Given the description of an element on the screen output the (x, y) to click on. 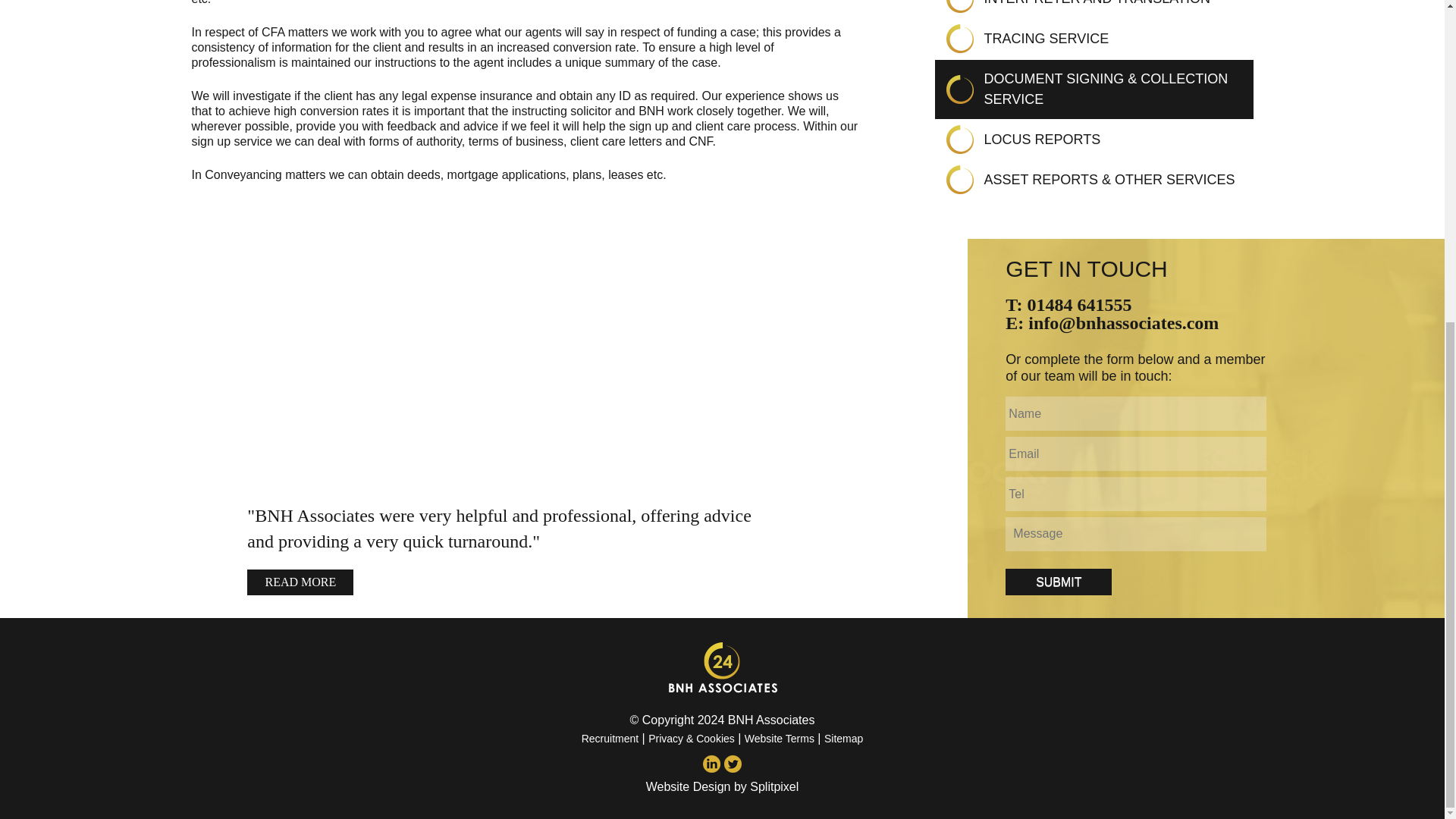
INTERPRETER AND TRANSLATION (1096, 2)
READ MORE (300, 582)
LOCUS REPORTS (1042, 139)
TRACING SERVICE (1046, 38)
Submit (1059, 581)
